Given the description of an element on the screen output the (x, y) to click on. 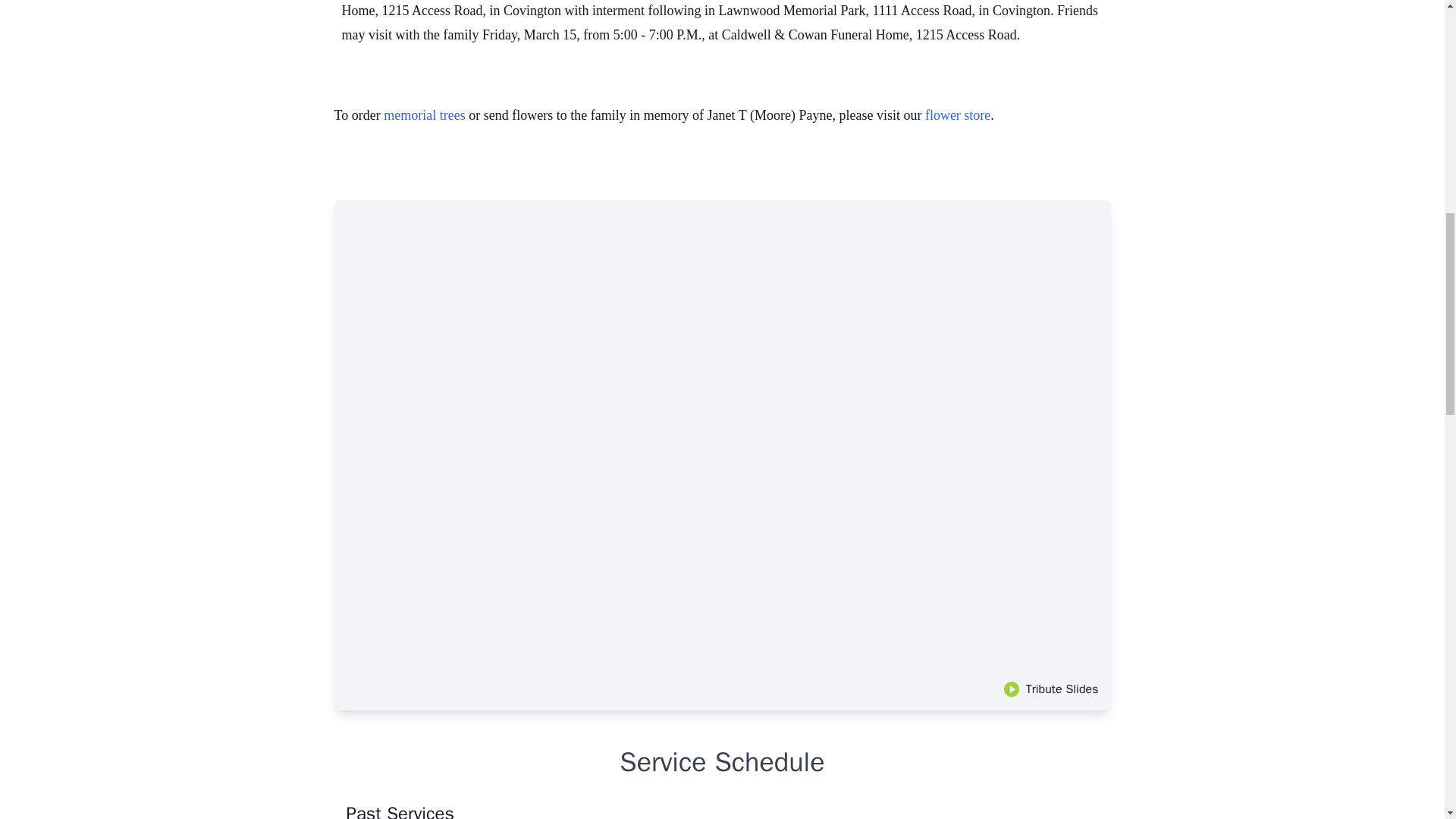
flower store (957, 114)
memorial trees (424, 114)
